Given the description of an element on the screen output the (x, y) to click on. 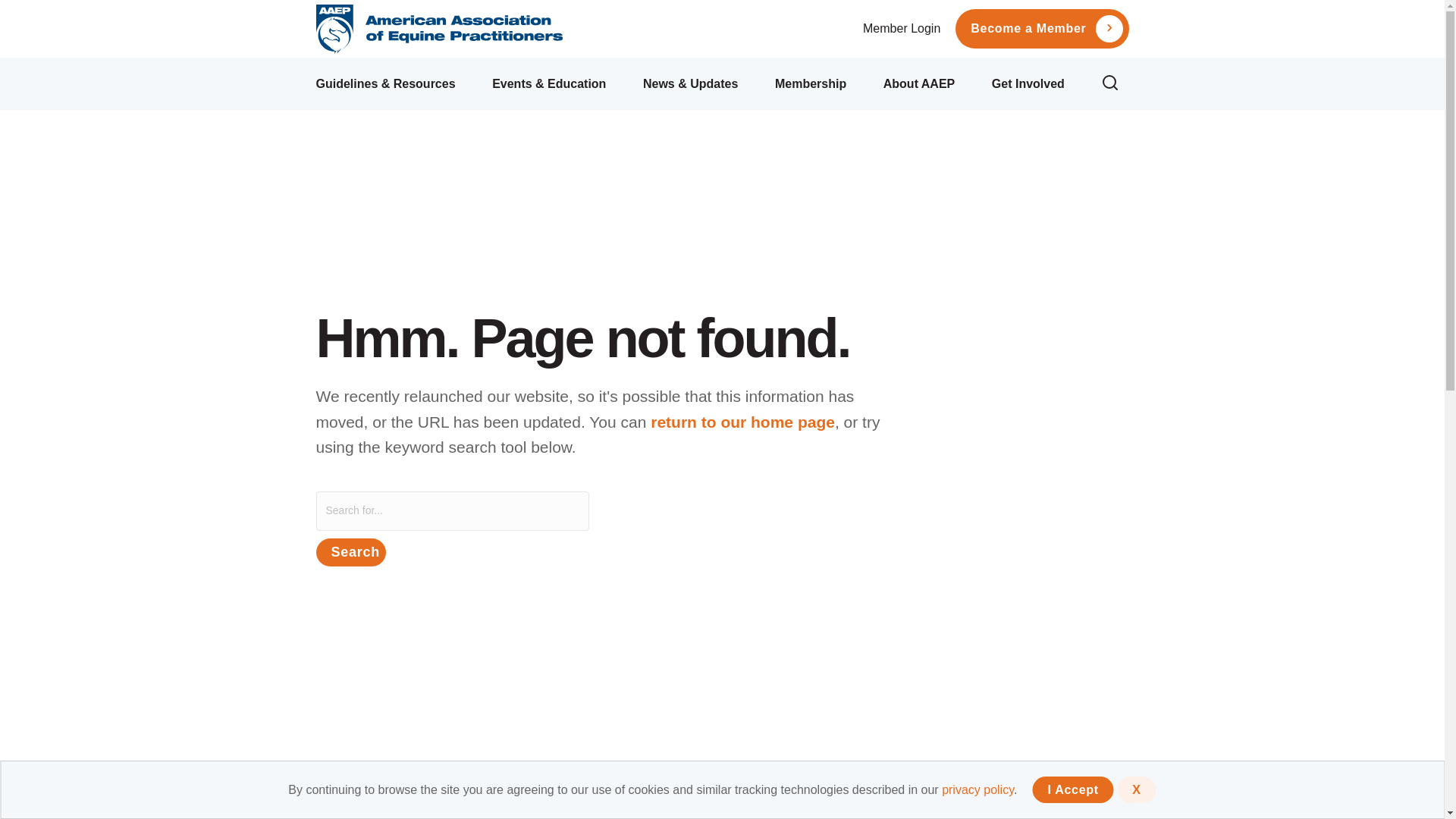
Member Login (901, 28)
Become a Member (1028, 28)
I Accept (1072, 789)
aaep-logo (438, 29)
privacy policy (977, 789)
X (1136, 789)
Search (350, 552)
